Given the description of an element on the screen output the (x, y) to click on. 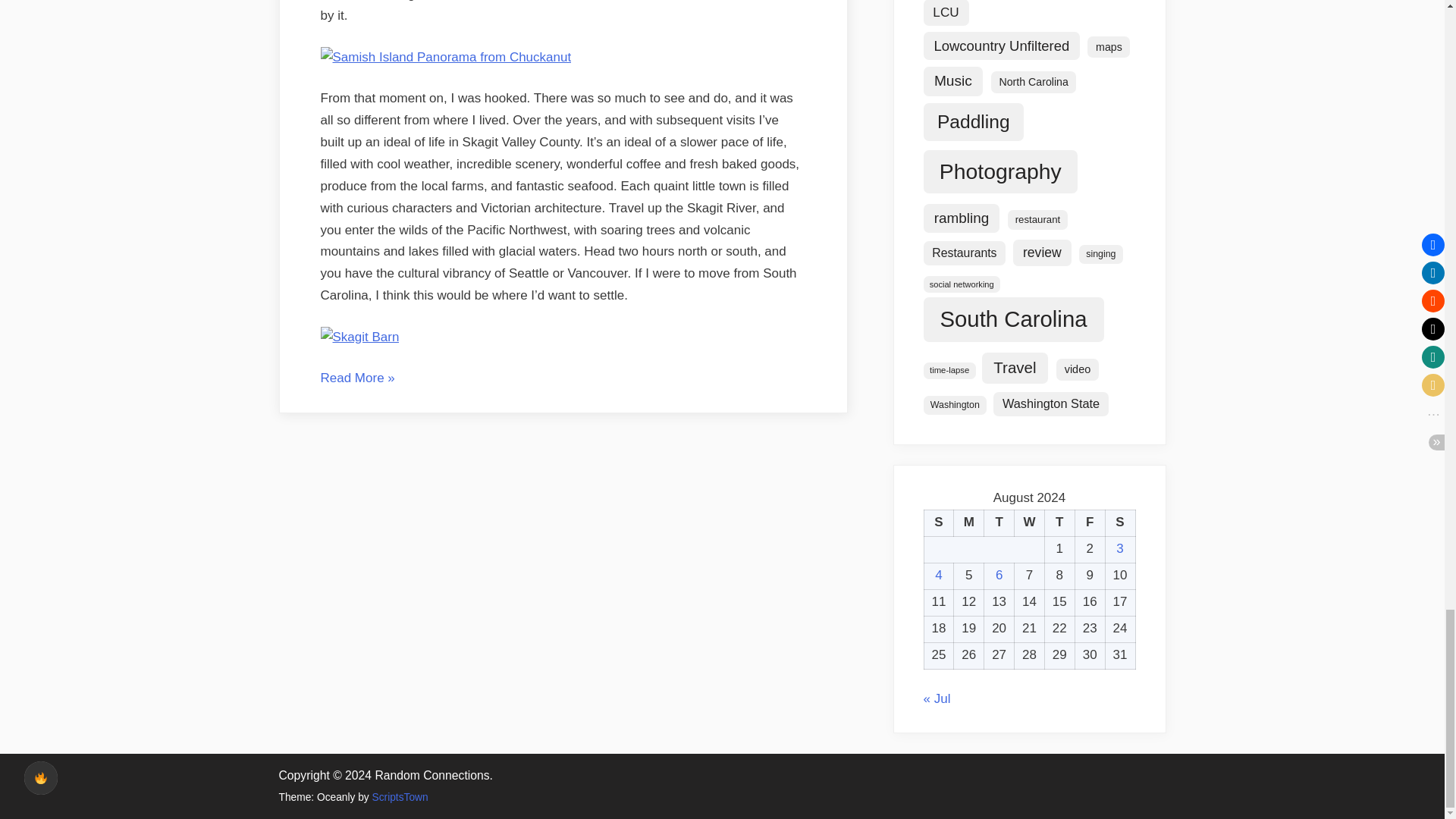
Tuesday (999, 522)
Monday (968, 522)
Sunday (938, 522)
Saturday (1120, 522)
Friday (1089, 522)
Thursday (1058, 522)
Skagit Barn by RandomConnections, on Flickr (359, 336)
Wednesday (1029, 522)
